Given the description of an element on the screen output the (x, y) to click on. 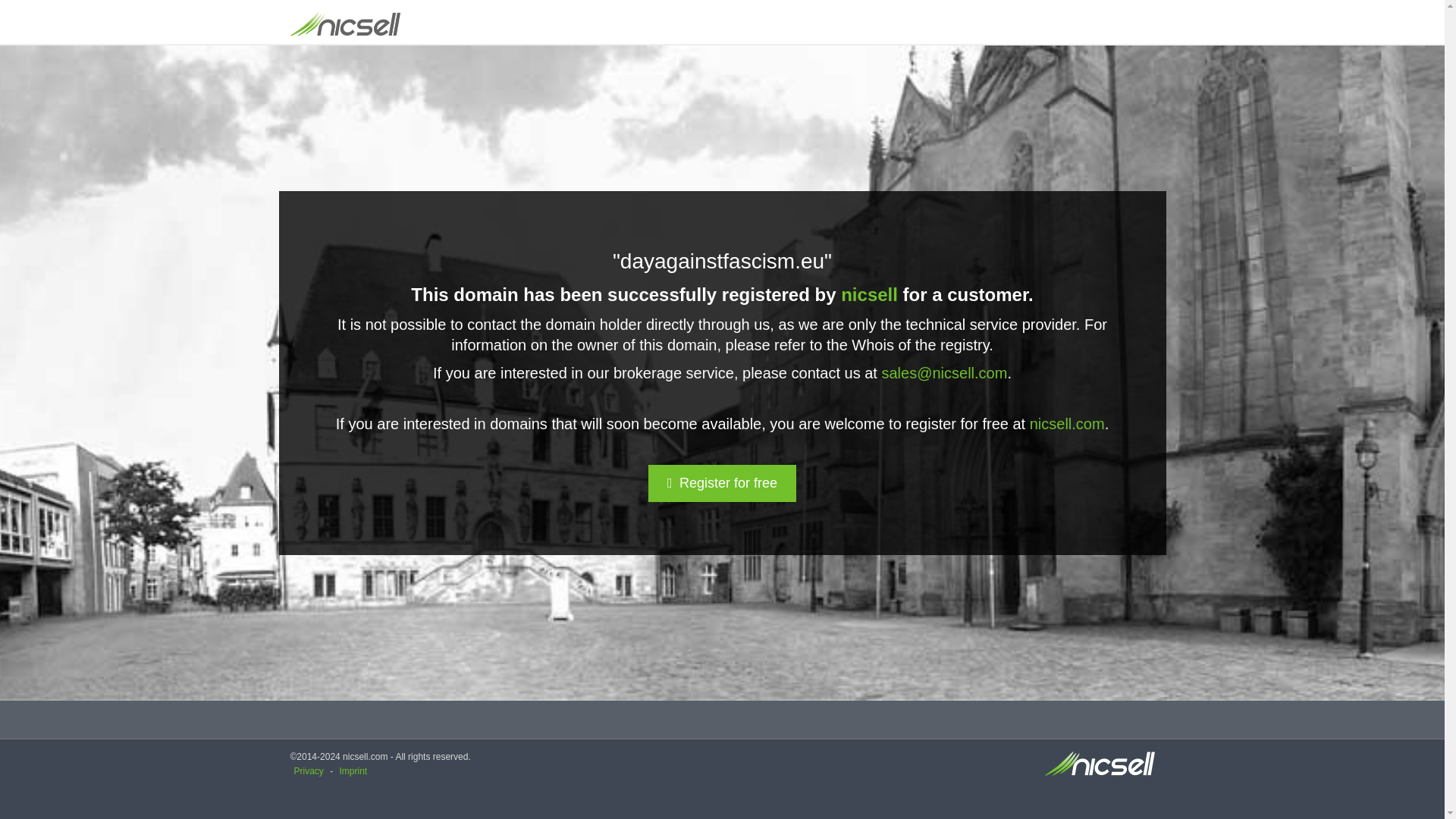
nicsell (869, 294)
Privacy (308, 770)
Imprint (353, 770)
nicsell.com (1067, 423)
  Register for free (721, 483)
